Given the description of an element on the screen output the (x, y) to click on. 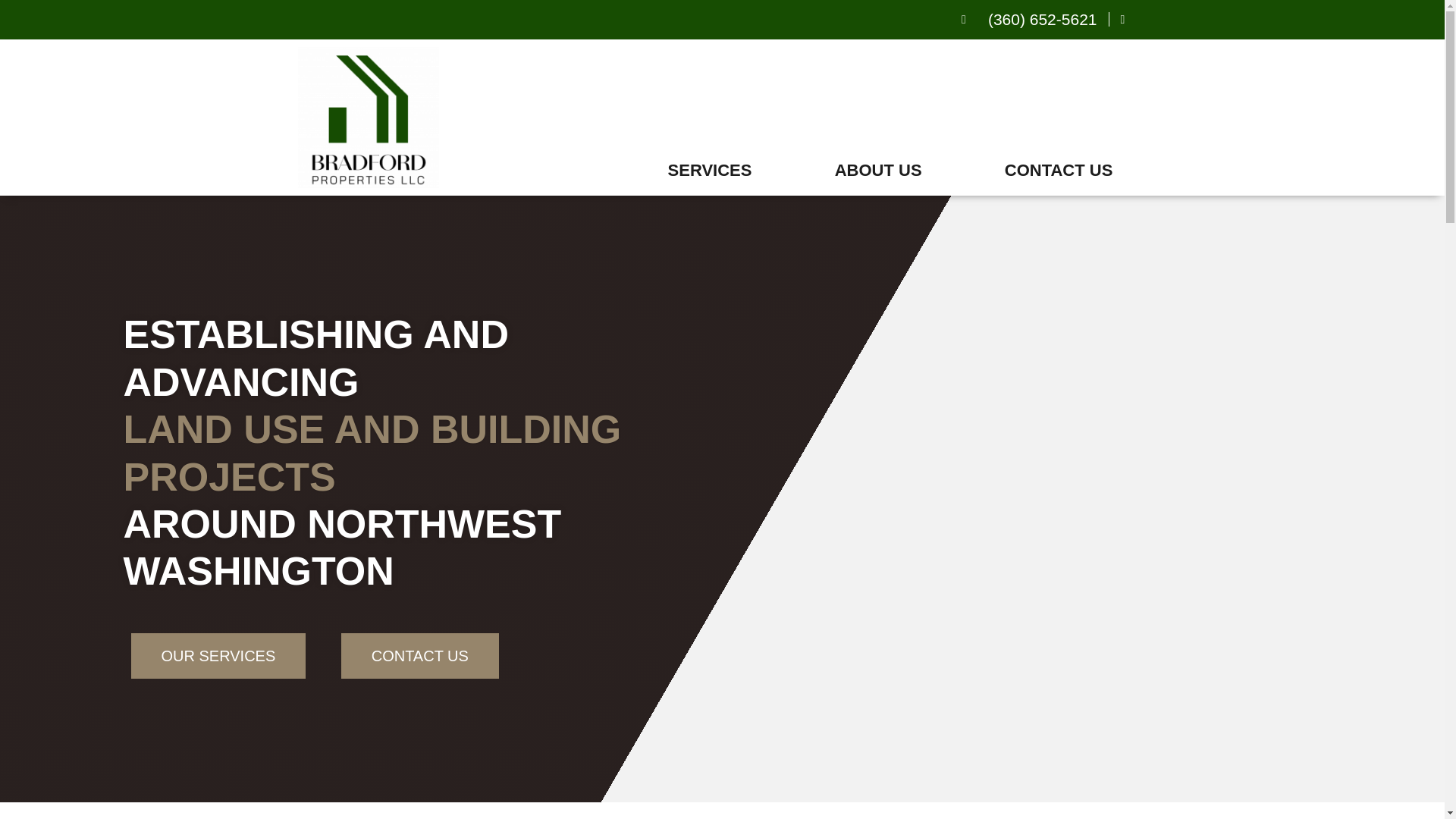
CONTACT US (1059, 170)
CONTACT US (419, 655)
SERVICES (709, 170)
ABOUT US (878, 170)
OUR SERVICES (218, 655)
